Given the description of an element on the screen output the (x, y) to click on. 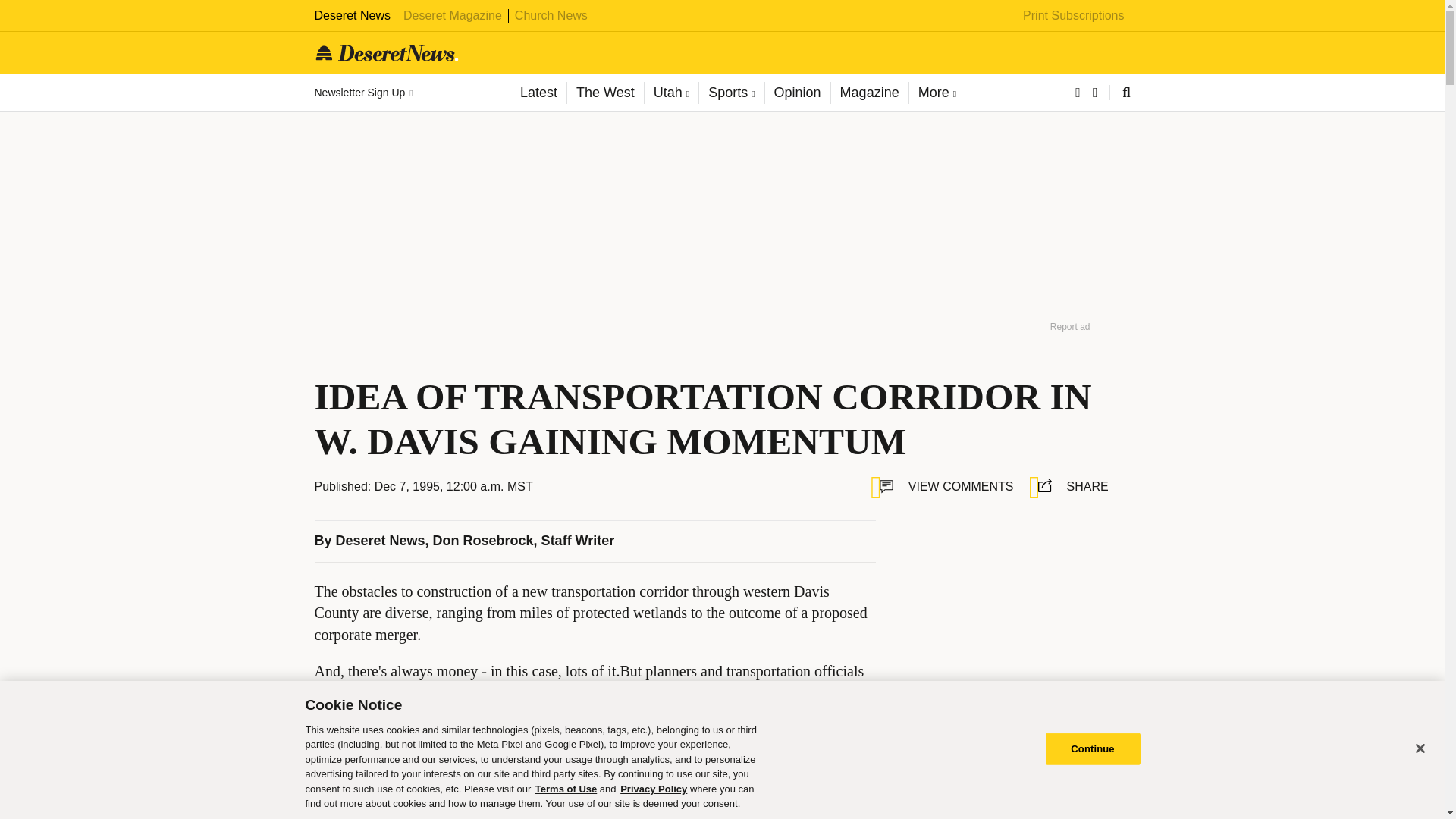
Deseret News (352, 15)
Church News (551, 15)
Print Subscriptions (1073, 15)
Newsletter Sign Up (363, 92)
Report ad (1102, 722)
Latest (538, 92)
The West (604, 92)
3rd party ad content (1008, 615)
Utah (670, 92)
Opinion (796, 92)
Report ad (1069, 326)
Magazine (868, 92)
Deseret Magazine (452, 15)
Deseret News (380, 540)
